Given the description of an element on the screen output the (x, y) to click on. 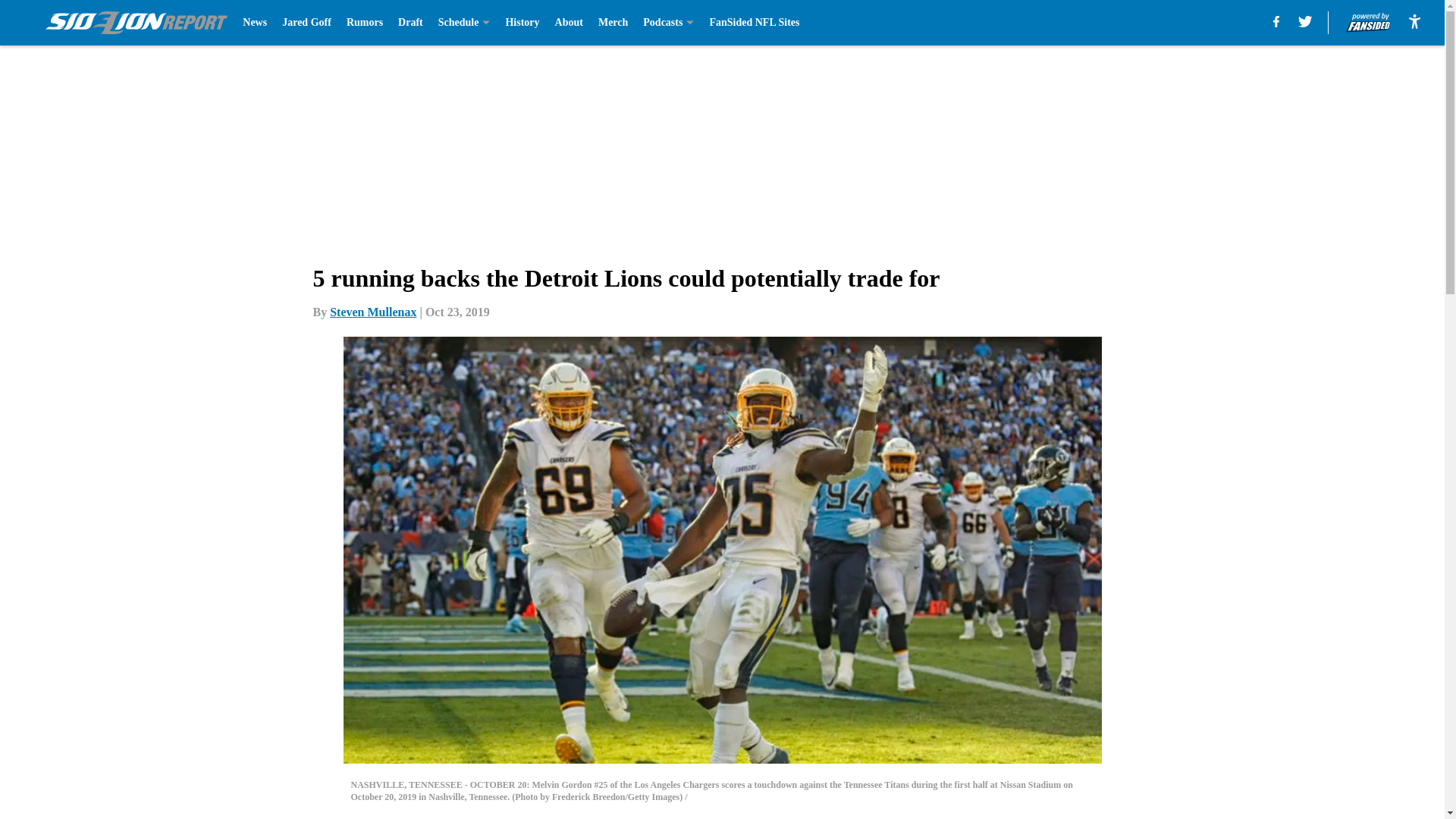
History (521, 22)
About (568, 22)
News (254, 22)
Jared Goff (306, 22)
Steven Mullenax (373, 311)
Draft (410, 22)
FanSided NFL Sites (754, 22)
Merch (612, 22)
Rumors (364, 22)
